Given the description of an element on the screen output the (x, y) to click on. 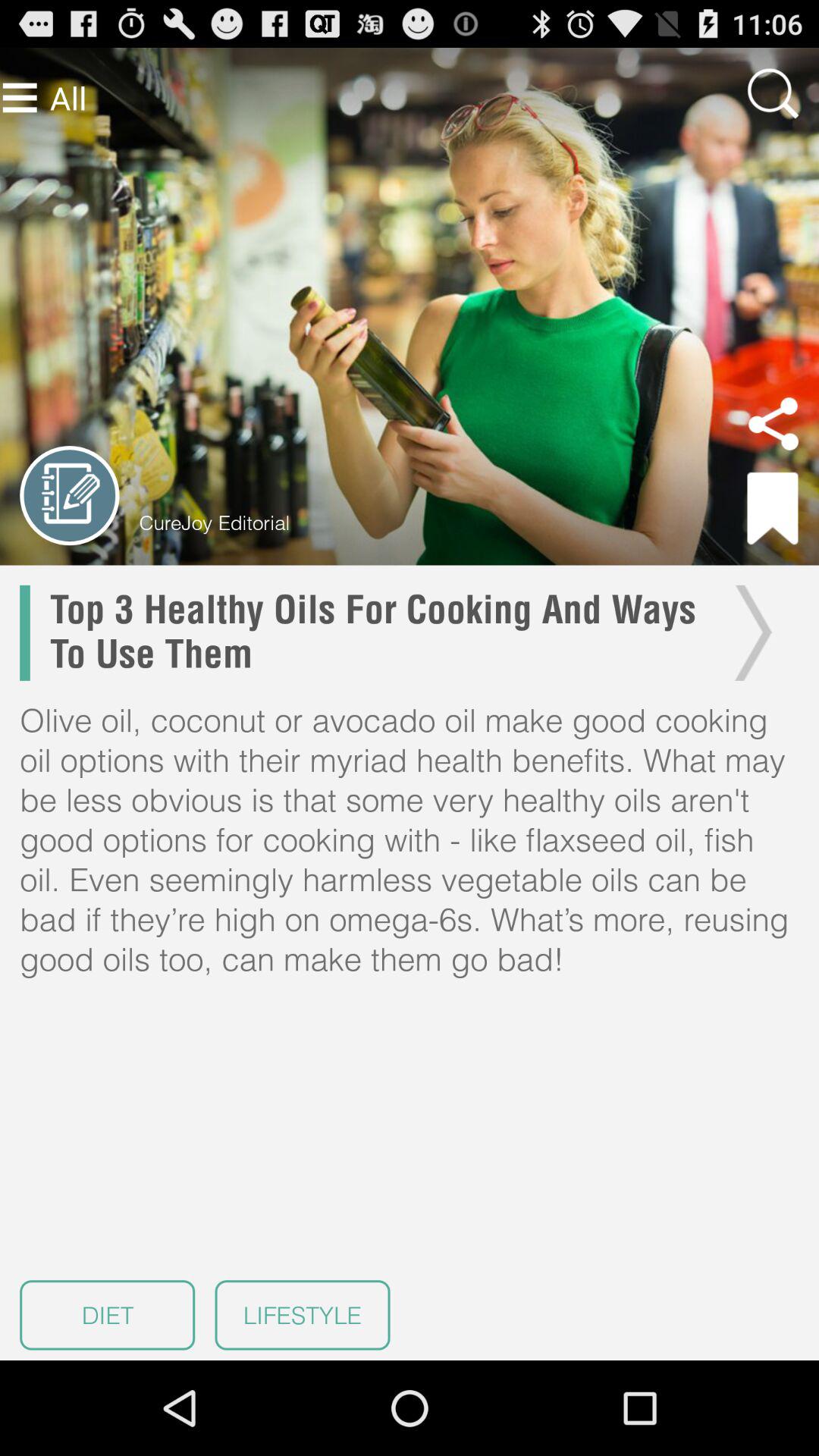
toggle to more options open to more options (19, 97)
